Given the description of an element on the screen output the (x, y) to click on. 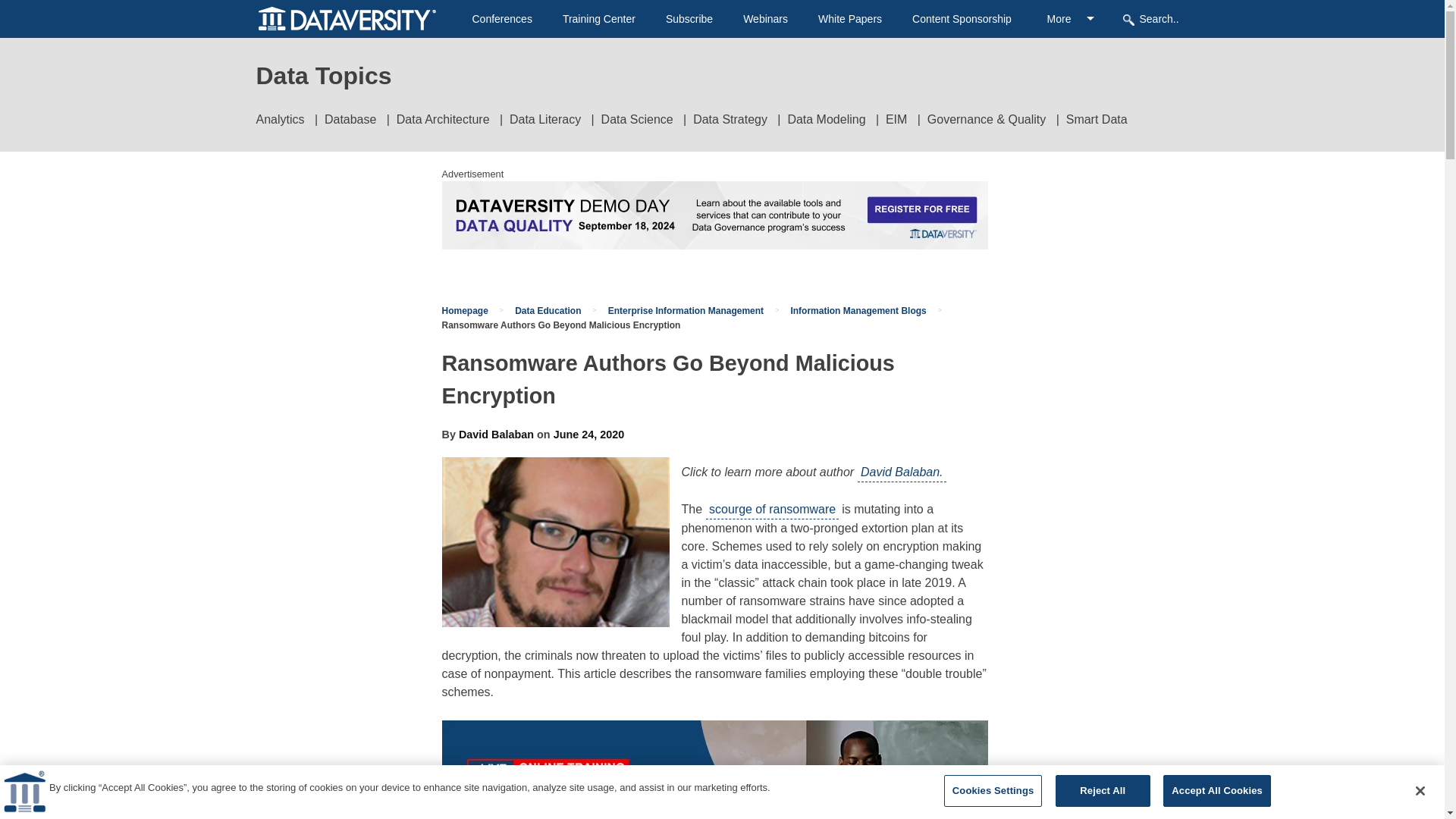
Subscribe (689, 19)
Data Education (547, 310)
EIM (896, 119)
David Balaban (496, 434)
Homepage (464, 310)
David Balaban. (901, 472)
White Papers (850, 19)
Training Center (598, 19)
Data Science (636, 119)
Homepage (464, 310)
